Given the description of an element on the screen output the (x, y) to click on. 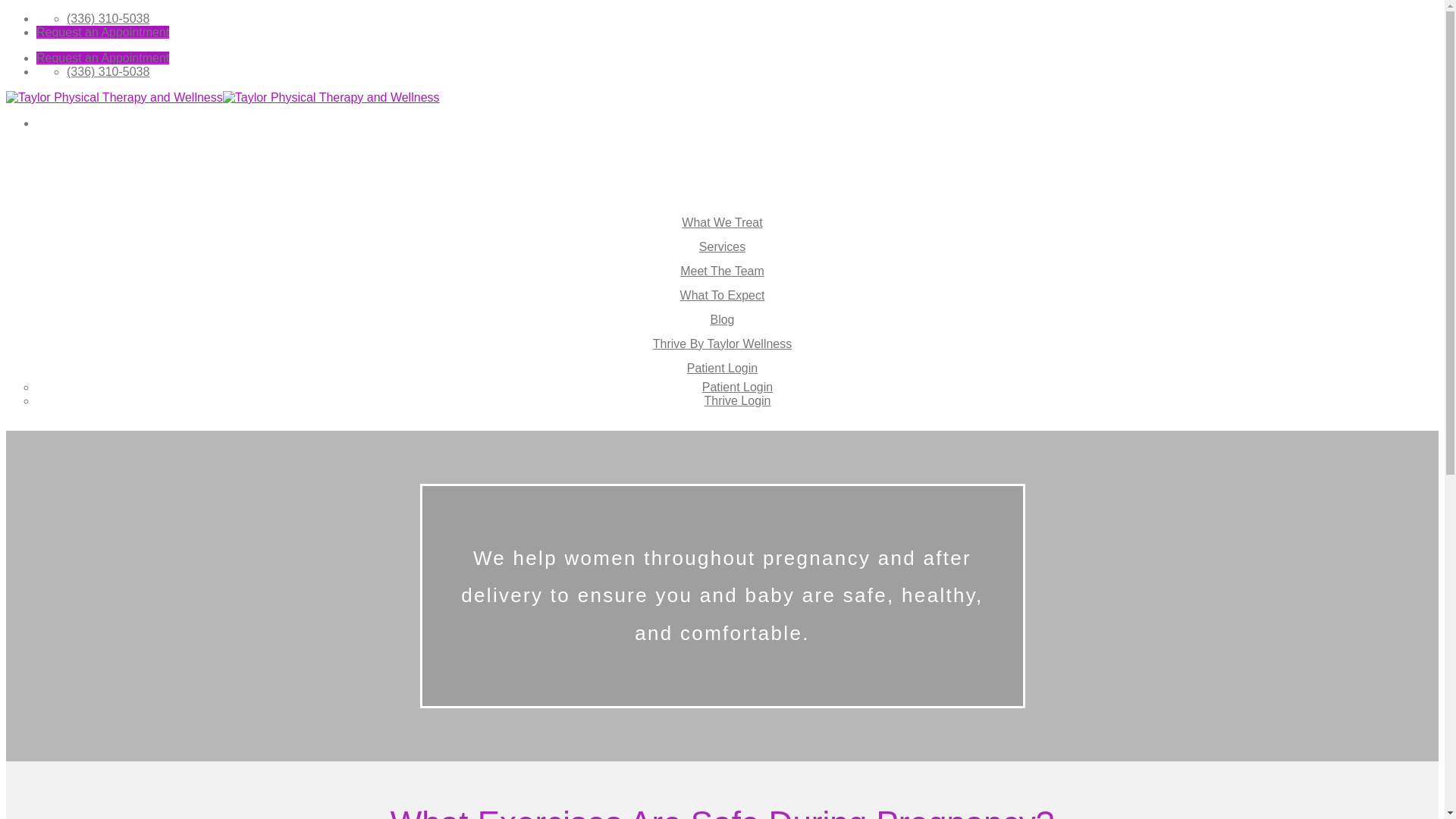
Request an Appointment (102, 57)
What To Expect (722, 295)
Thrive By Taylor Wellness (722, 343)
Patient Login (737, 386)
Thrive Login (736, 400)
Services (721, 246)
What We Treat (721, 222)
Meet The Team (721, 270)
Request an Appointment (102, 31)
Patient Login (722, 367)
Blog (721, 318)
